Given the description of an element on the screen output the (x, y) to click on. 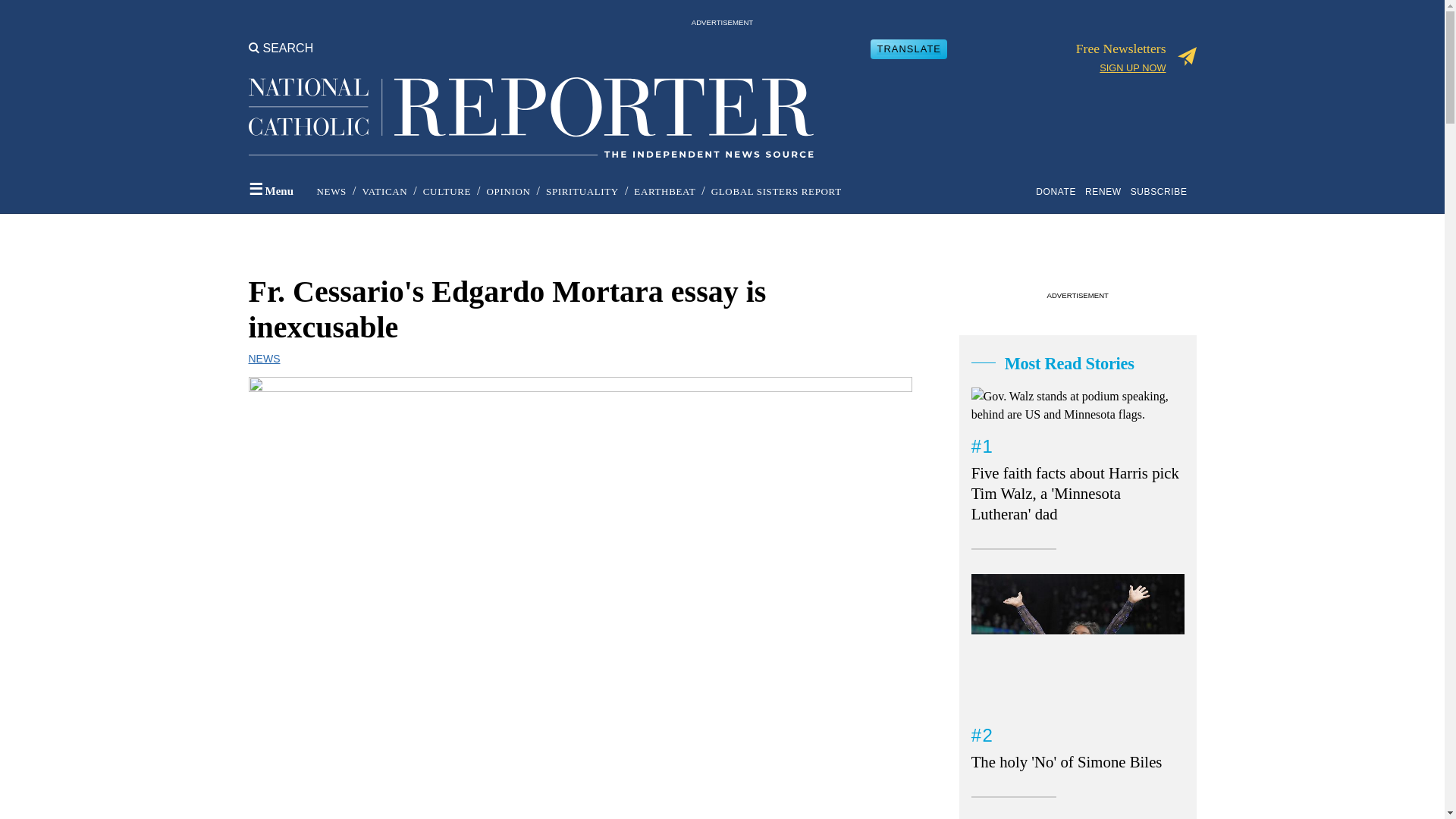
SPIRITUALITY (582, 191)
SIGN UP NOW (1132, 67)
TRANSLATE (908, 48)
VATICAN (384, 191)
DONATE (1058, 190)
NEWS (331, 191)
RENEW (1105, 190)
GLOBAL SISTERS REPORT (776, 191)
EARTHBEAT (664, 191)
